Given the description of an element on the screen output the (x, y) to click on. 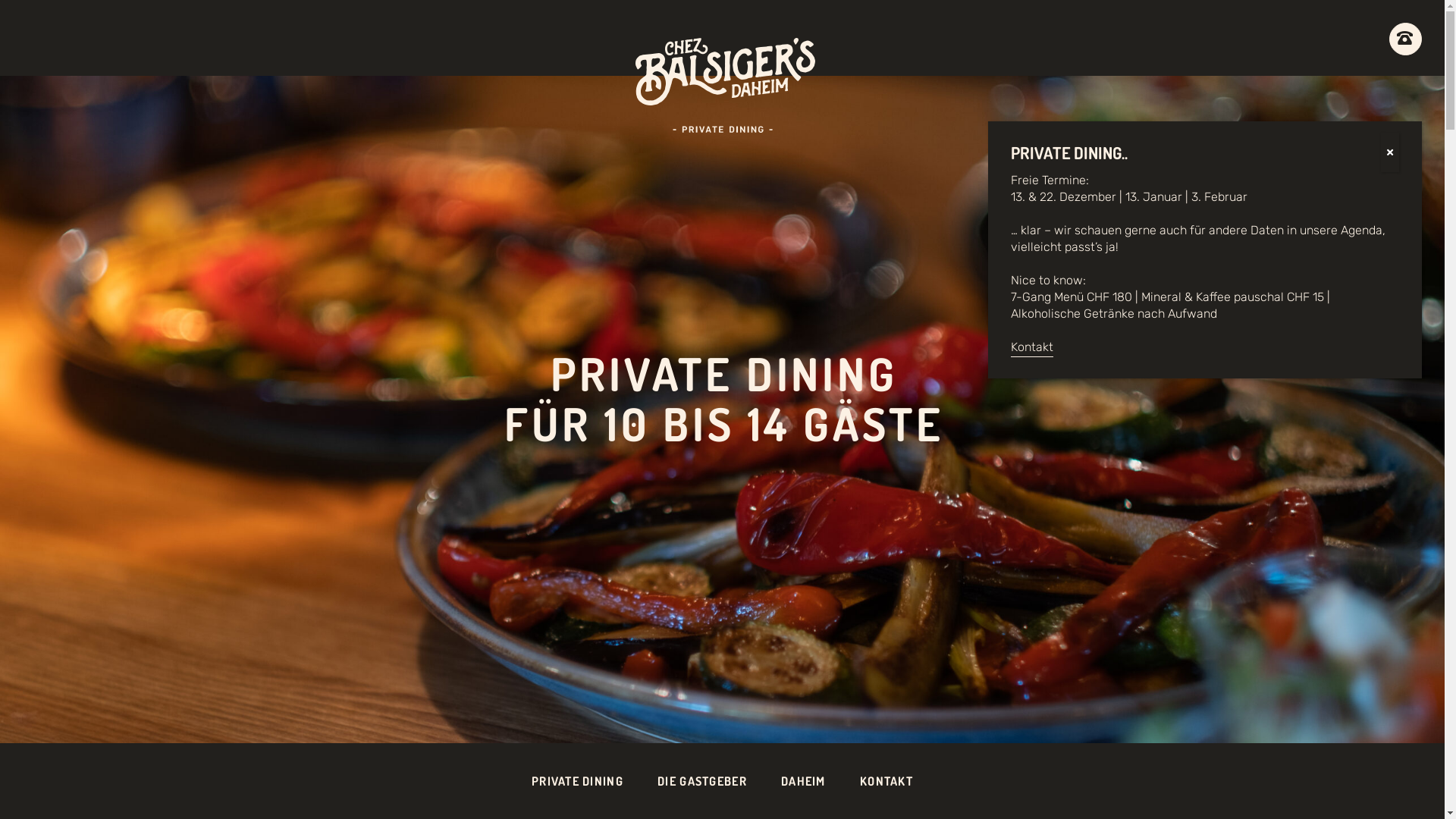
DAHEIM Element type: text (803, 780)
DIE GASTGEBER Element type: text (701, 780)
KONTAKT Element type: text (886, 780)
PRIVATE DINING Element type: text (577, 780)
Kontakt Element type: text (1031, 346)
